Given the description of an element on the screen output the (x, y) to click on. 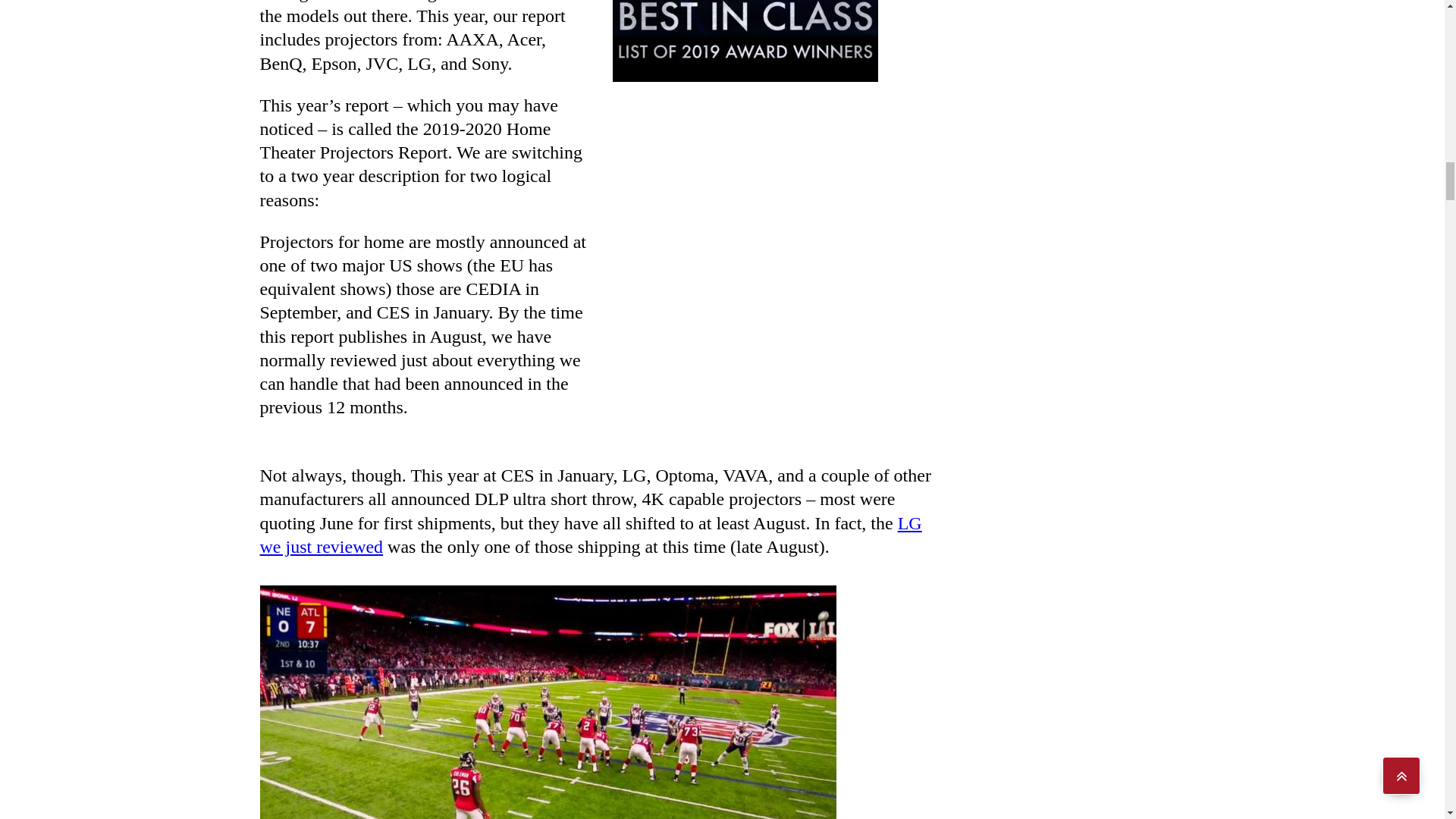
Home-Theater-Report-Best-in-Class-List-of-Winners (744, 40)
